Given the description of an element on the screen output the (x, y) to click on. 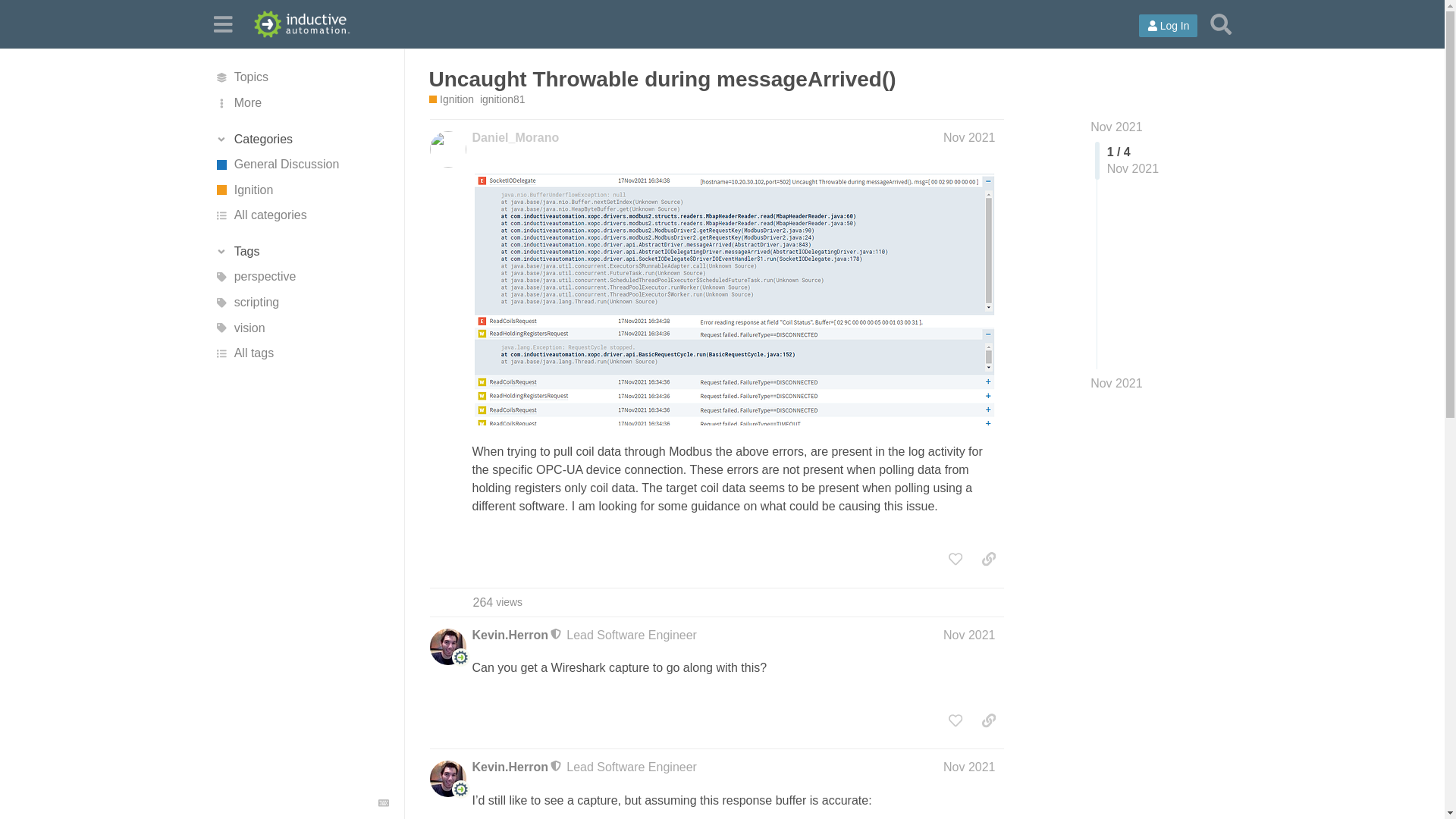
Ignition (301, 190)
Toggle section (301, 251)
Log In (1168, 25)
General Discussion (301, 164)
Jump to the first post (1116, 126)
Kevin.Herron (509, 767)
perspective (301, 277)
Categories (301, 139)
ignition81 (502, 99)
Post date (969, 137)
